Given the description of an element on the screen output the (x, y) to click on. 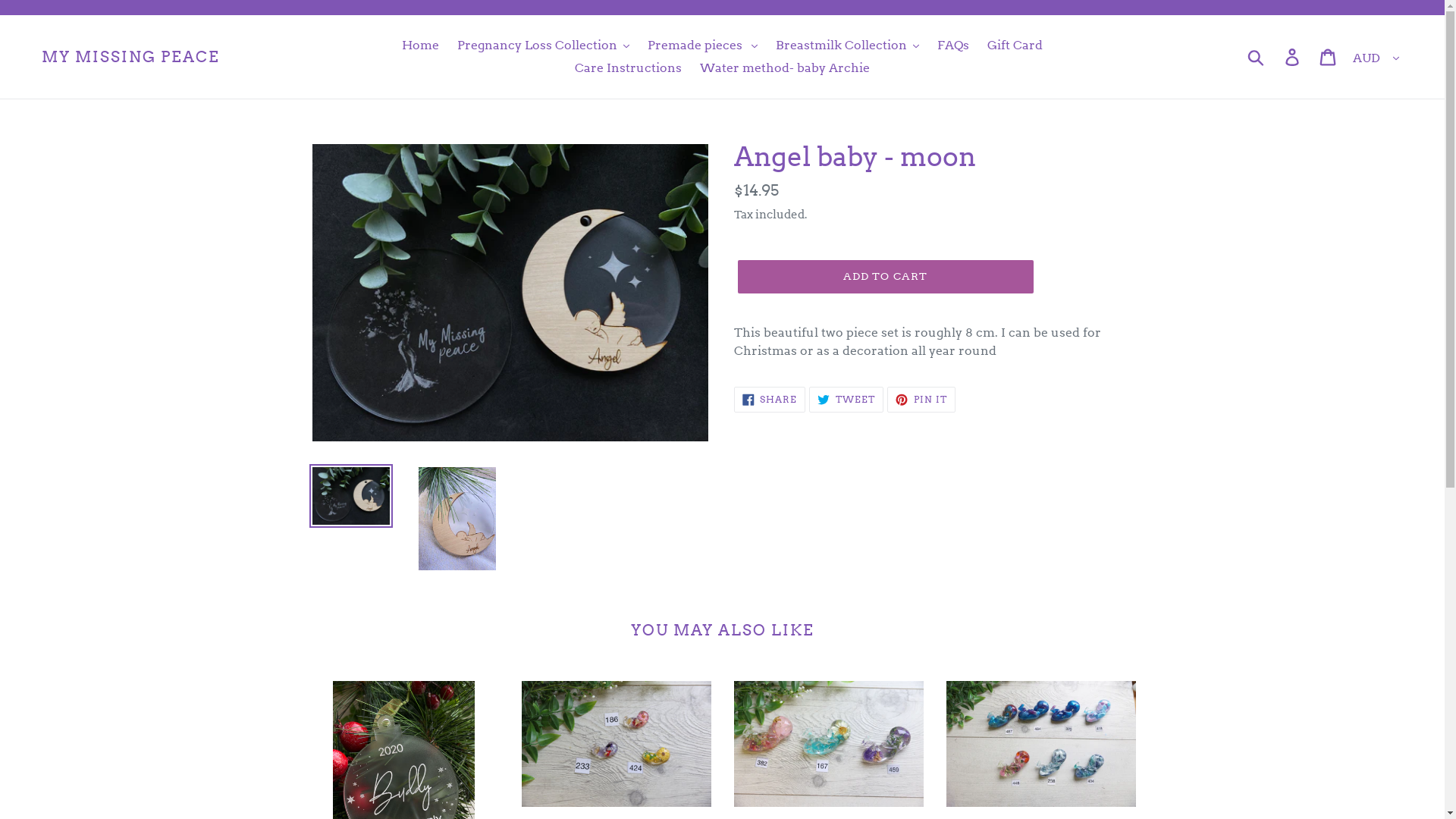
Gift Card Element type: text (1014, 45)
MY MISSING PEACE Element type: text (130, 56)
Submit Element type: text (1256, 56)
SHARE
SHARE ON FACEBOOK Element type: text (770, 399)
Care Instructions Element type: text (628, 67)
FAQs Element type: text (952, 45)
Water method- baby Archie Element type: text (784, 67)
PIN IT
PIN ON PINTEREST Element type: text (921, 399)
ADD TO CART Element type: text (884, 276)
Log in Element type: text (1293, 56)
TWEET
TWEET ON TWITTER Element type: text (846, 399)
Cart Element type: text (1328, 56)
Home Element type: text (420, 45)
